Given the description of an element on the screen output the (x, y) to click on. 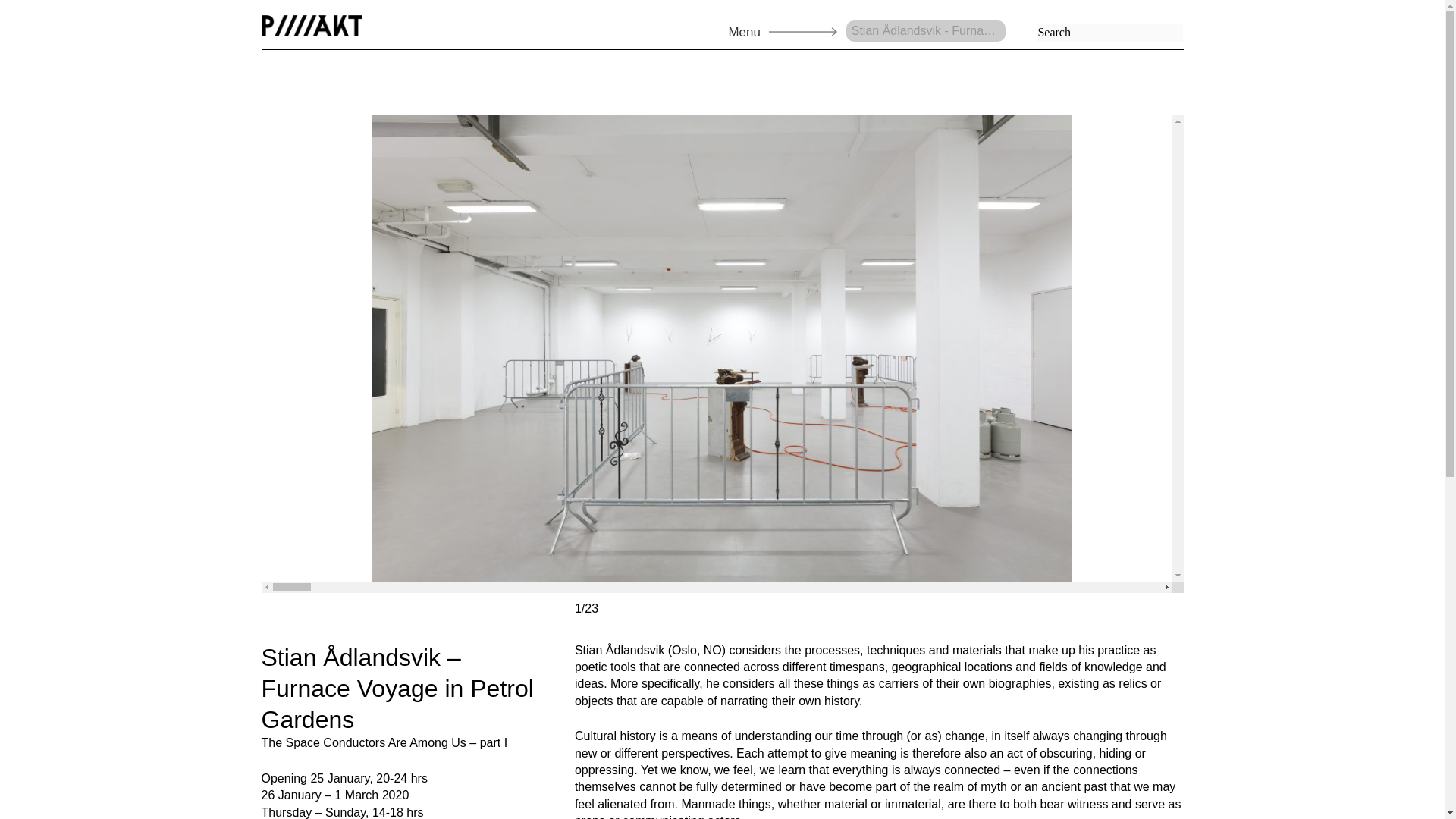
pakt.nu (310, 25)
Menu (738, 27)
Search (24, 9)
